Given the description of an element on the screen output the (x, y) to click on. 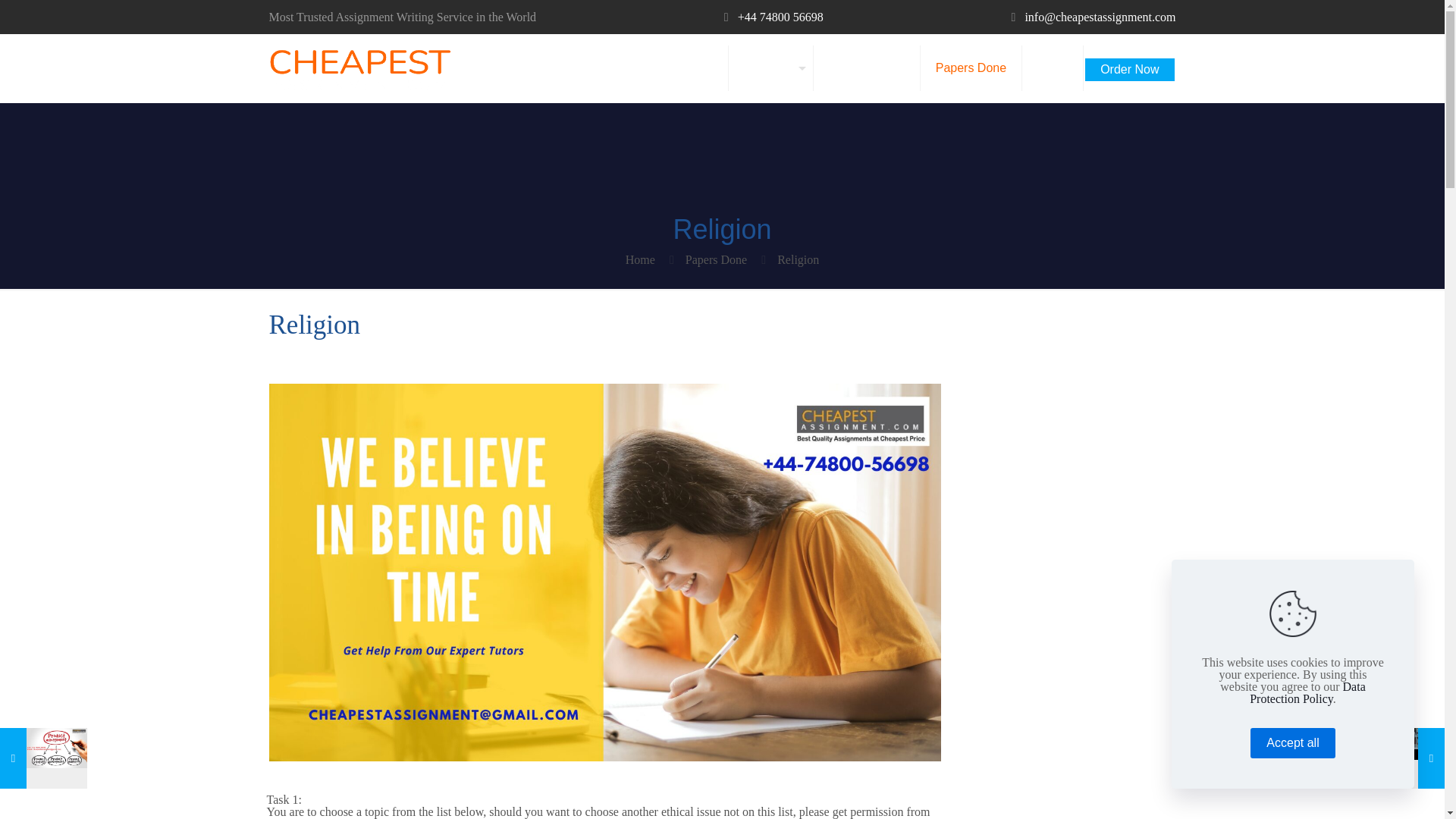
Best Assignment Writers (358, 68)
Home (640, 259)
Blogs (1052, 68)
Free Samples (866, 68)
Home (697, 68)
Order Now (1128, 64)
Papers Done (715, 259)
Papers Done (971, 68)
Services (771, 68)
